Given the description of an element on the screen output the (x, y) to click on. 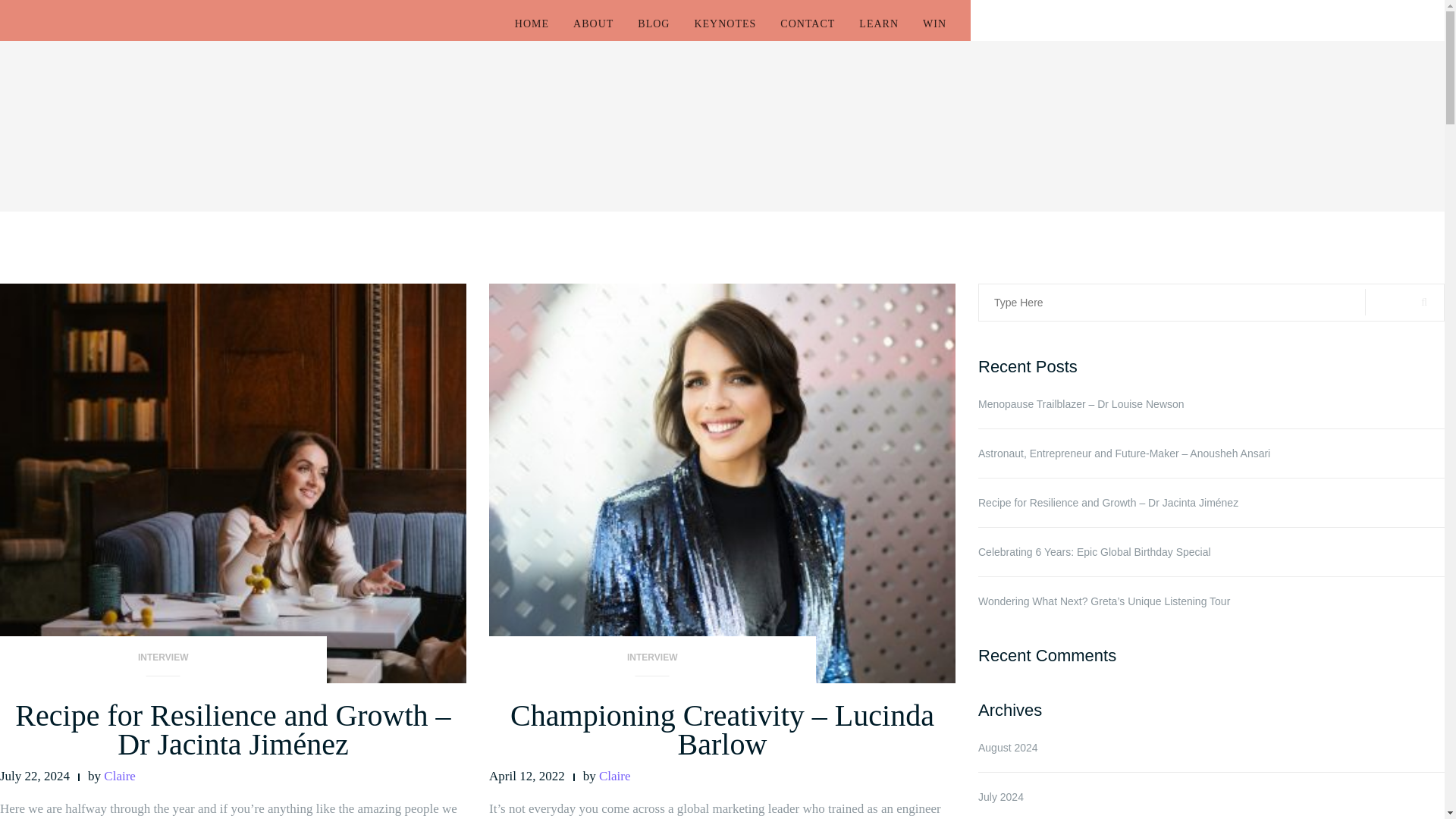
Claire (614, 775)
Keynotes (724, 24)
CONTACT (807, 24)
KEYNOTES (724, 24)
ABOUT (592, 24)
Claire (614, 775)
INTERVIEW (163, 662)
LEARN (878, 24)
Claire (119, 775)
About (592, 24)
